Given the description of an element on the screen output the (x, y) to click on. 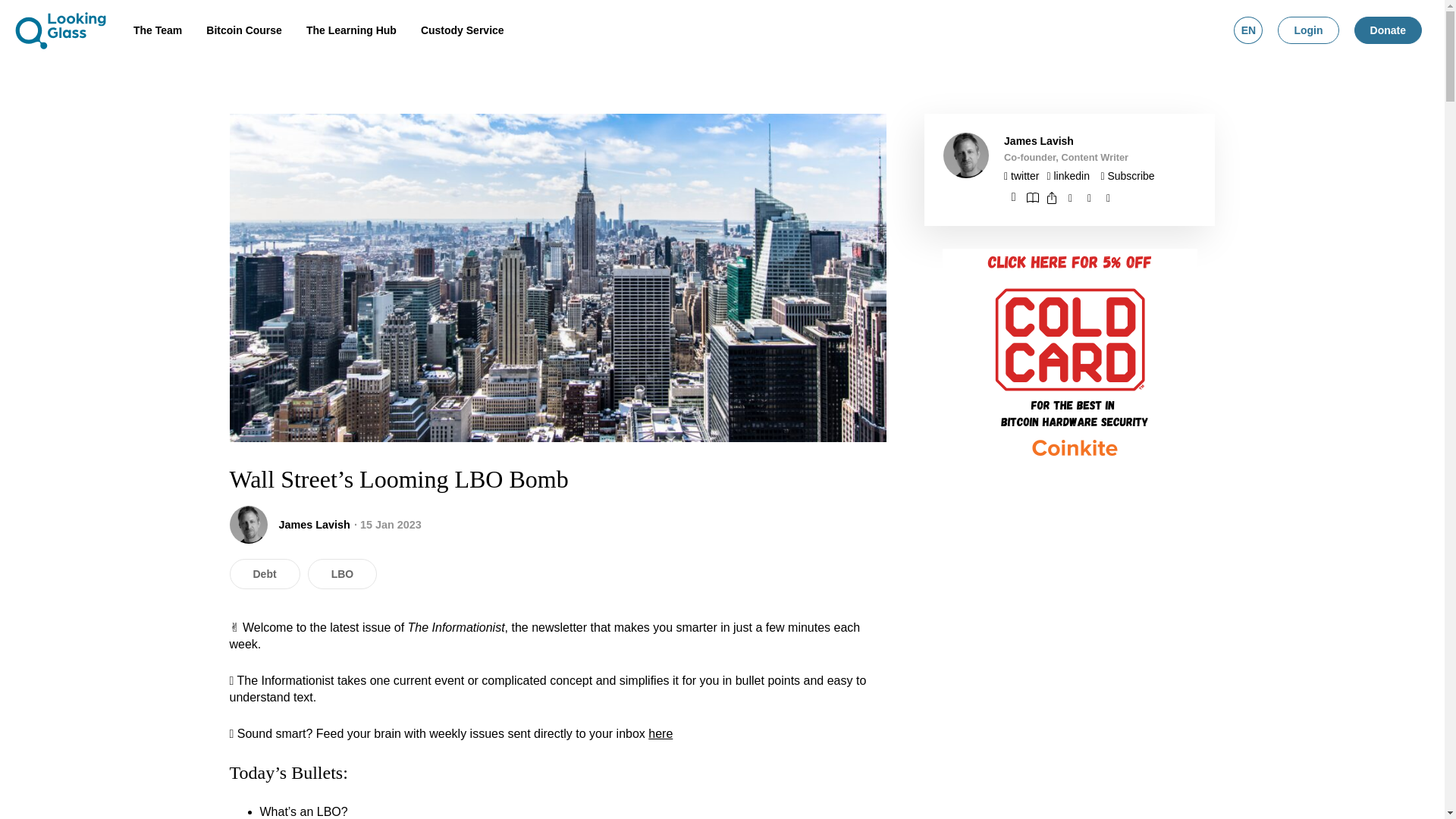
See other articles from James Lavish (1039, 141)
Login (1308, 30)
The Learning Hub (351, 30)
Share on Facebook (1070, 197)
The Team (157, 30)
James Lavish (314, 524)
LBO (342, 573)
Share on Twitter (1089, 197)
here (659, 733)
Share on Linkedin (1108, 197)
Donate (1388, 30)
James Lavish on Twitter (1021, 175)
Bitcoin Course (244, 30)
James Lavish (1039, 141)
Debt (263, 573)
